Given the description of an element on the screen output the (x, y) to click on. 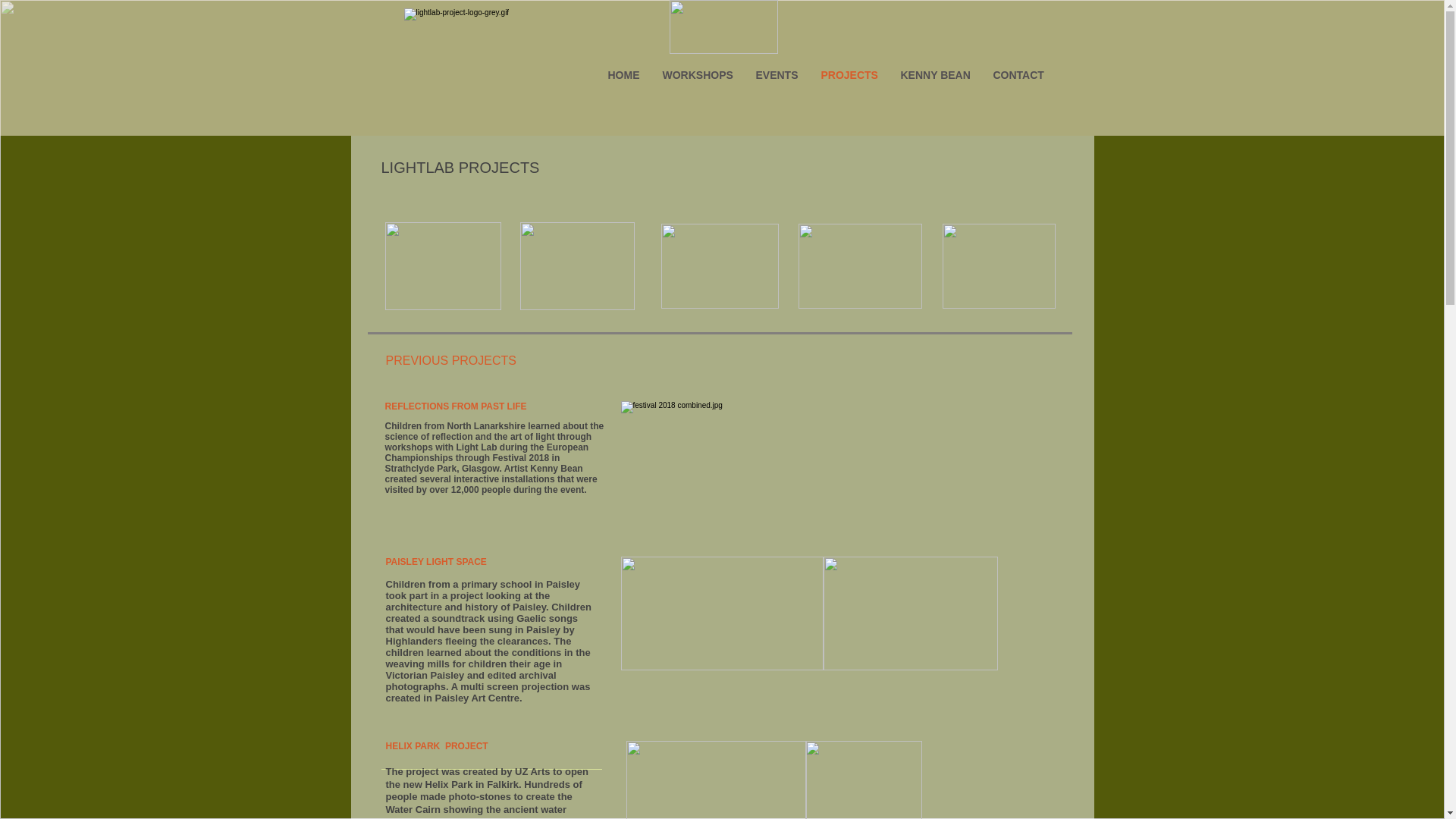
PROJECTS (849, 74)
KENNY BEAN (934, 74)
EVENTS (776, 74)
CONTACT (1017, 74)
Falkirk Helix Bridge daytime Projection 5.jpg (716, 780)
WORKSHOPS (697, 74)
HOME (622, 74)
